Given the description of an element on the screen output the (x, y) to click on. 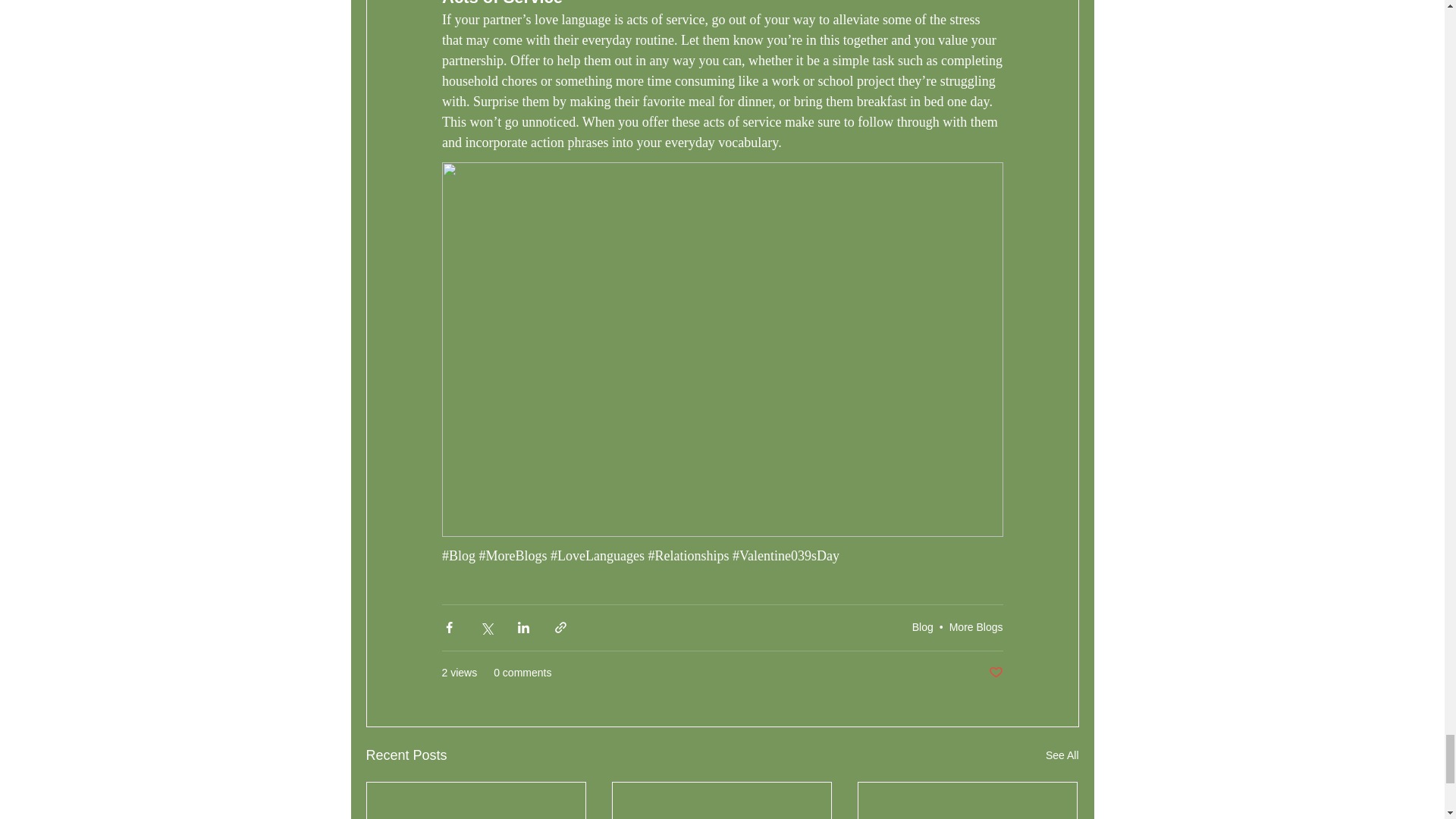
Post not marked as liked (995, 672)
More Blogs (976, 626)
See All (1061, 755)
Blog (922, 626)
